Given the description of an element on the screen output the (x, y) to click on. 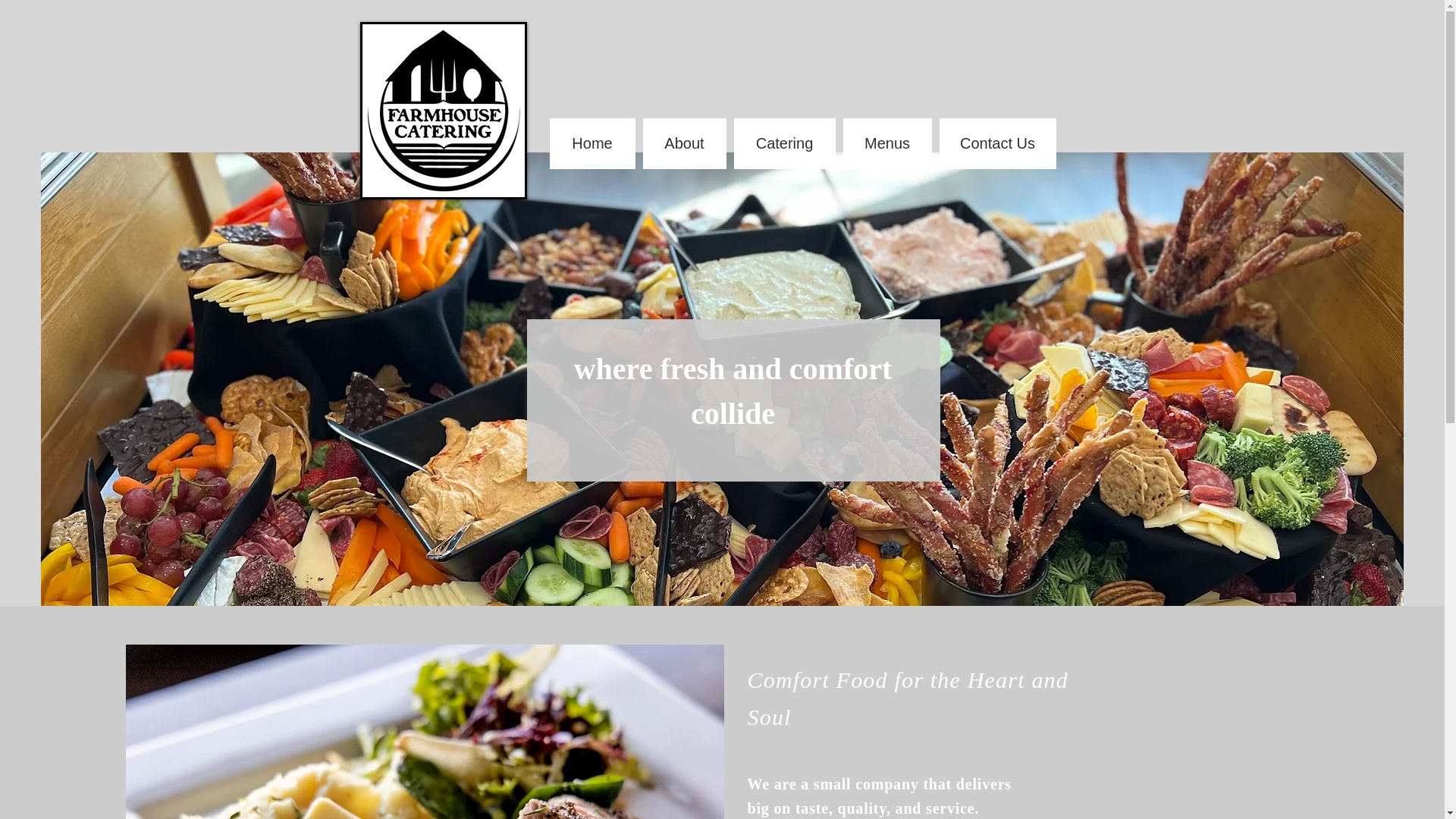
About (684, 142)
Contact Us (997, 142)
Catering (784, 142)
Menus (887, 142)
Home (591, 142)
